Given the description of an element on the screen output the (x, y) to click on. 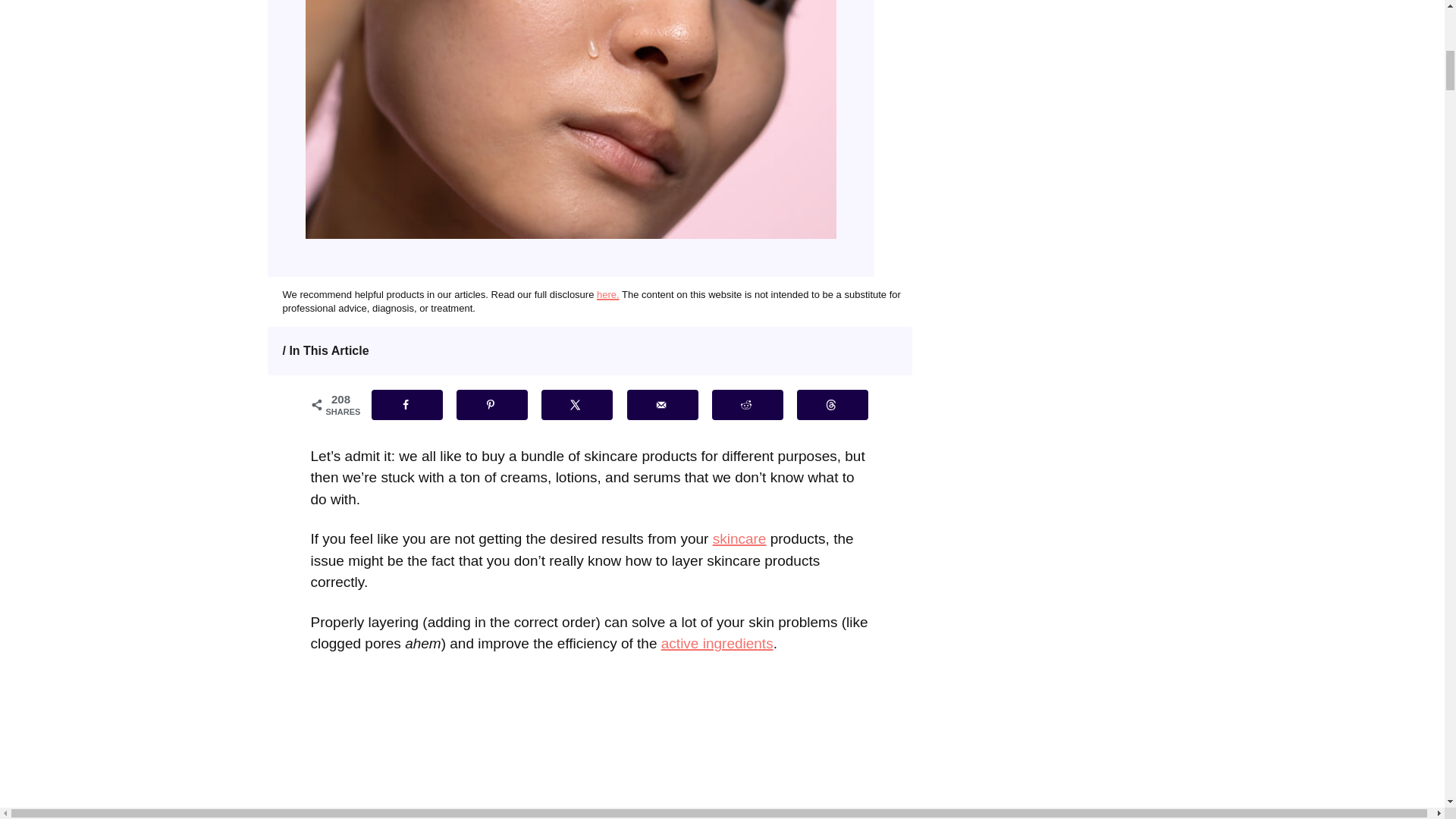
Share on Reddit (747, 404)
Share on Facebook (406, 404)
Save to Pinterest (492, 404)
Send over email (662, 404)
Share on X (576, 404)
Share on Threads (831, 404)
